Given the description of an element on the screen output the (x, y) to click on. 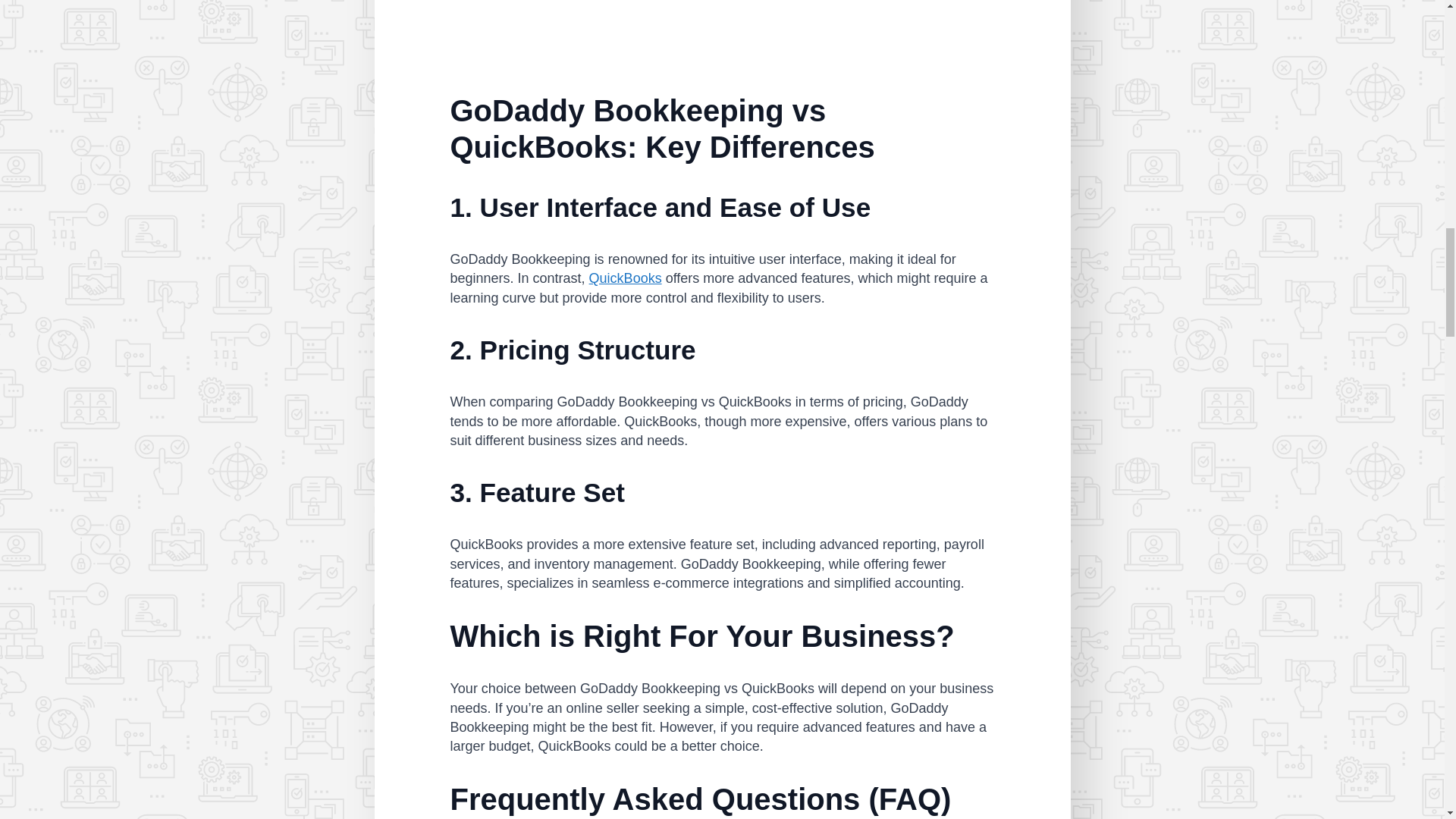
QuickBooks (625, 278)
